Given the description of an element on the screen output the (x, y) to click on. 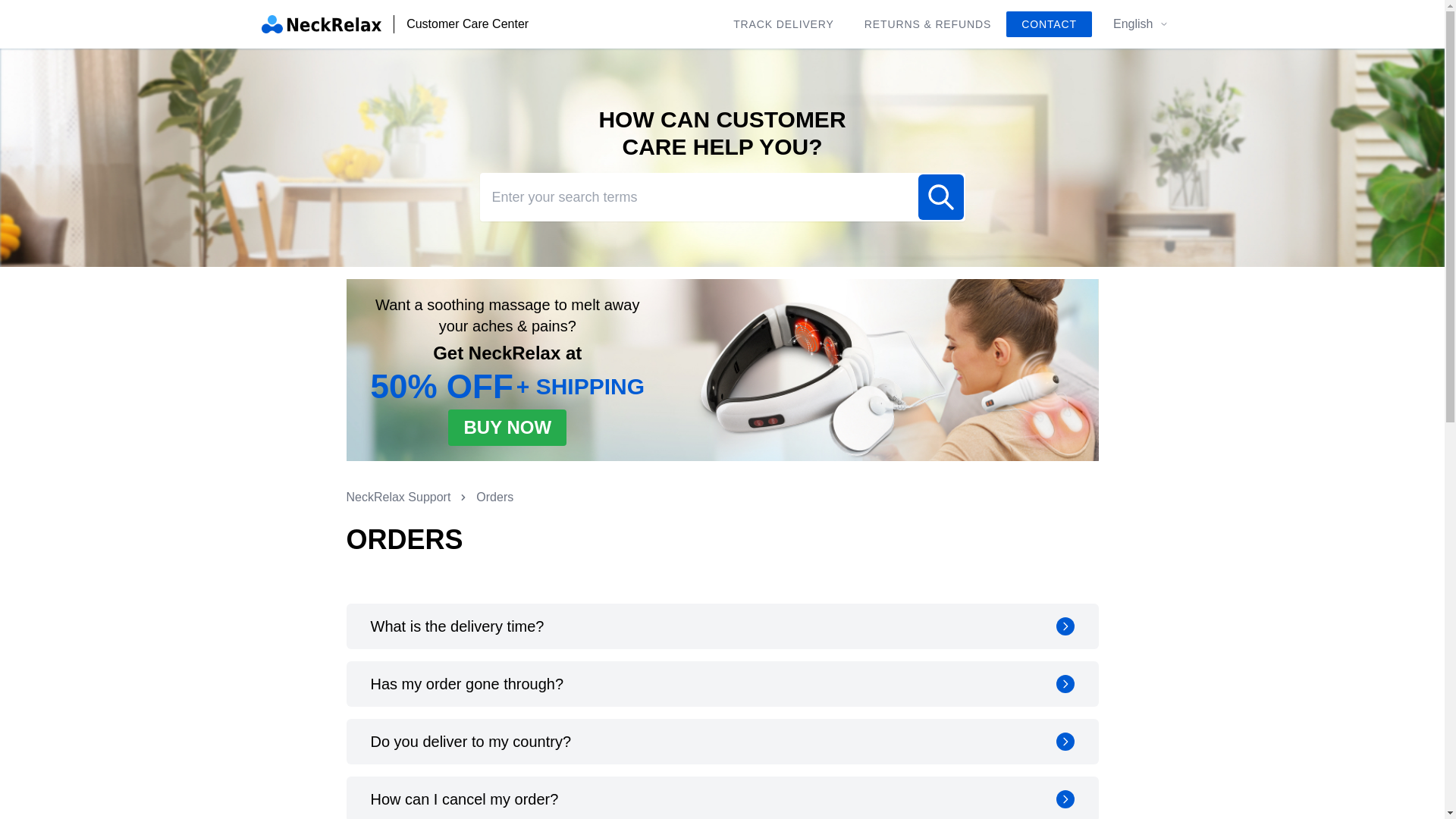
BUY NOW (507, 427)
CONTACT (1049, 23)
Has my order gone through?  (721, 683)
TRACK DELIVERY (782, 23)
English (1140, 24)
How can I cancel my order?  (721, 797)
Do you deliver to my country? (721, 741)
Home (320, 24)
What is the delivery time? (721, 626)
NeckRelax Support (397, 497)
